Given the description of an element on the screen output the (x, y) to click on. 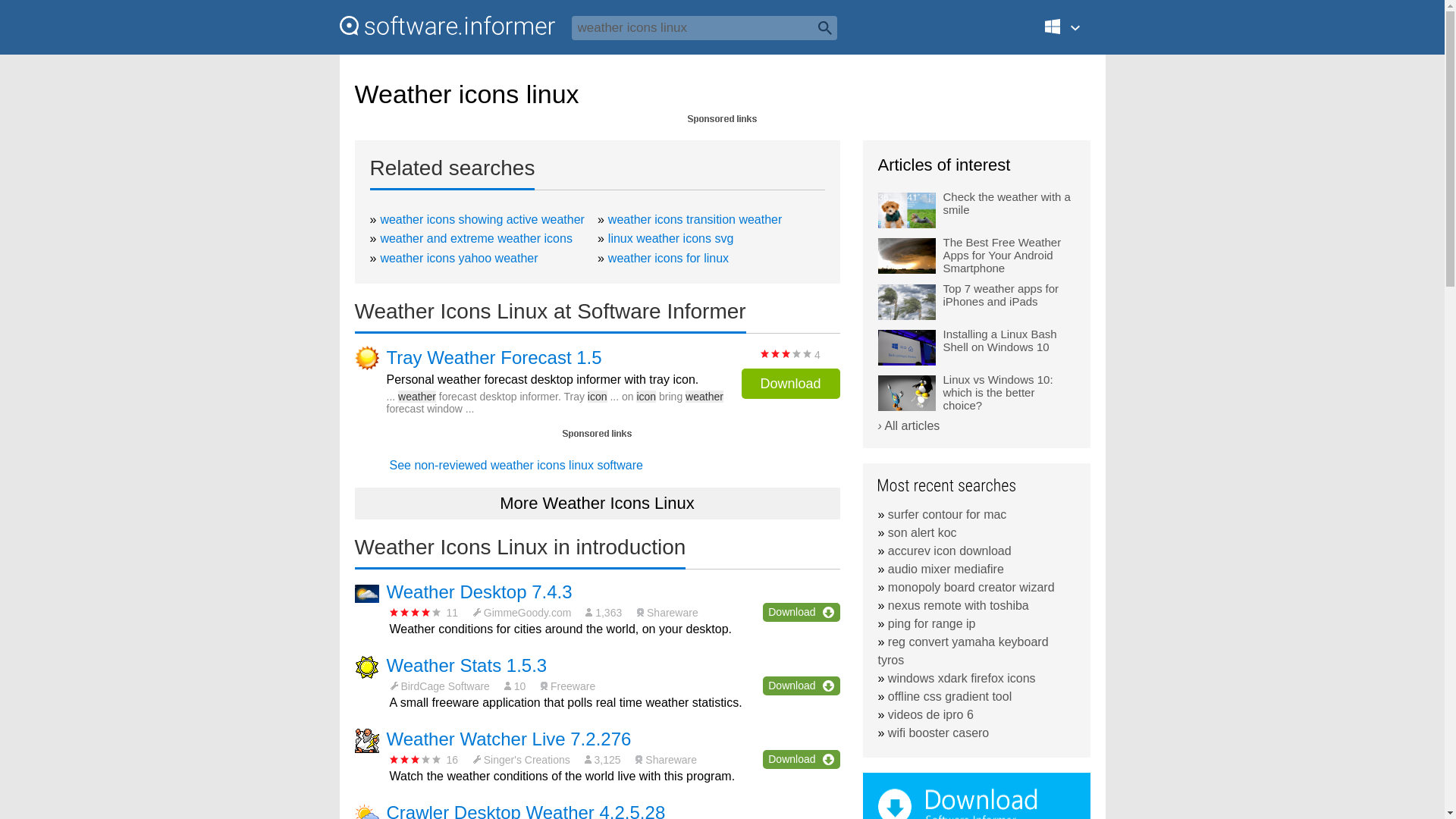
Weather Desktop 7.4.3 (479, 591)
Download (790, 383)
linux weather icons svg (670, 237)
Weather Desktop 7.4.3 (479, 591)
See non-reviewed weather icons linux software (516, 464)
4 votes (785, 353)
Weather Watcher Live 7.2.276 (509, 738)
weather and extreme weather icons (476, 237)
Weather Stats 1.5.3 (467, 665)
